Given the description of an element on the screen output the (x, y) to click on. 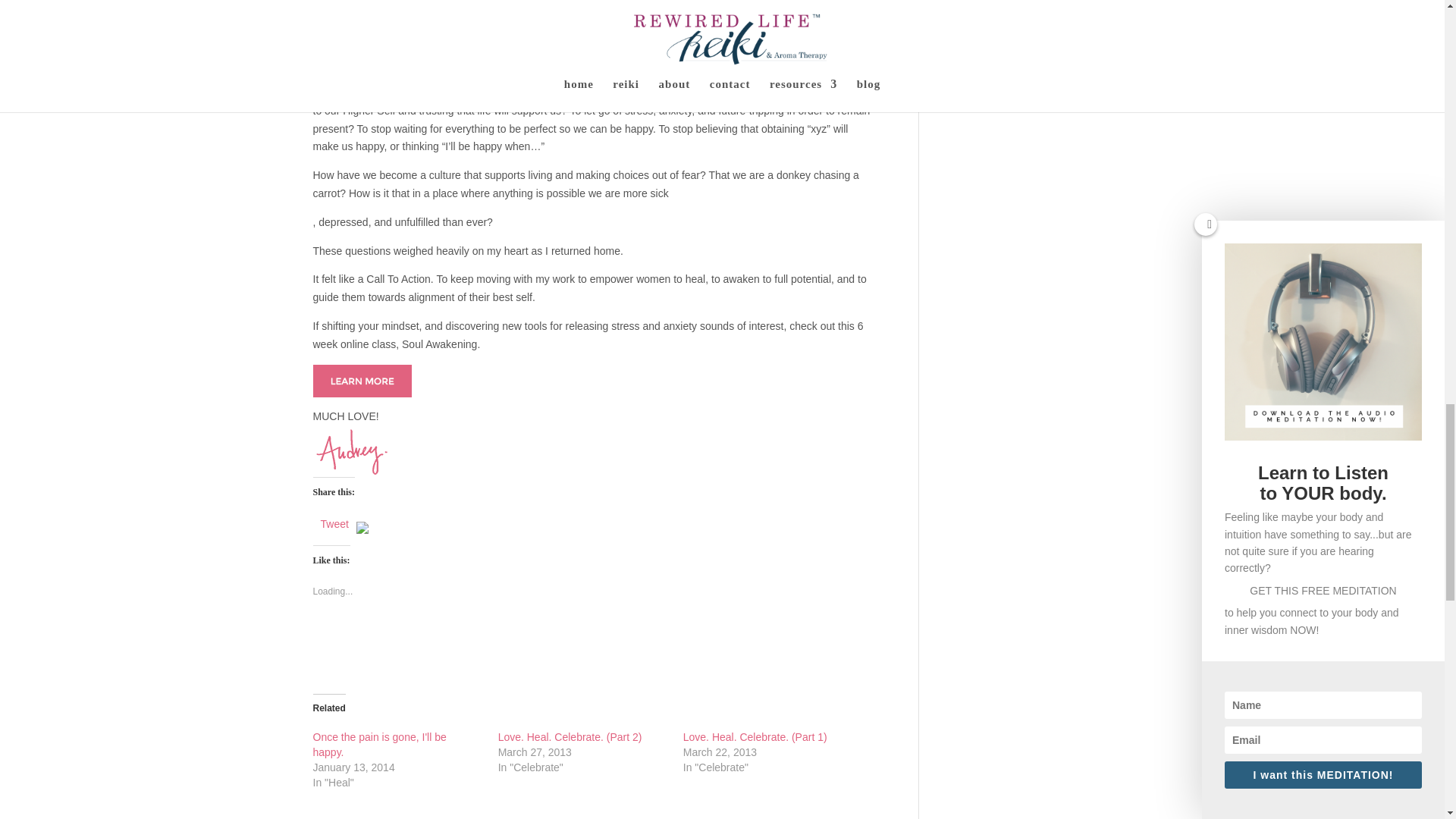
Once the pain is gone, I'll be happy. (379, 744)
Tweet (333, 523)
